Given the description of an element on the screen output the (x, y) to click on. 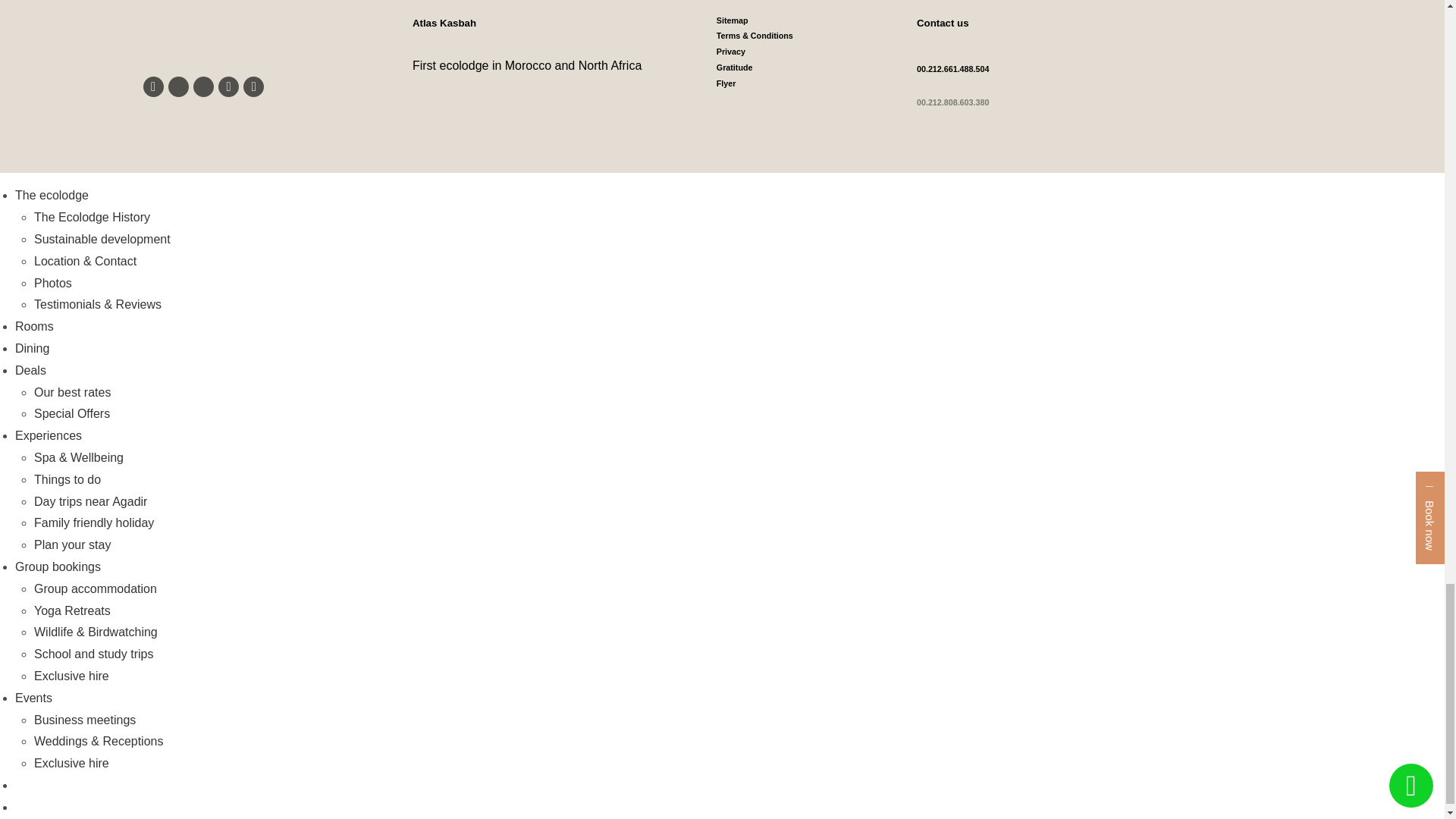
English (25, 807)
French (25, 785)
